Given the description of an element on the screen output the (x, y) to click on. 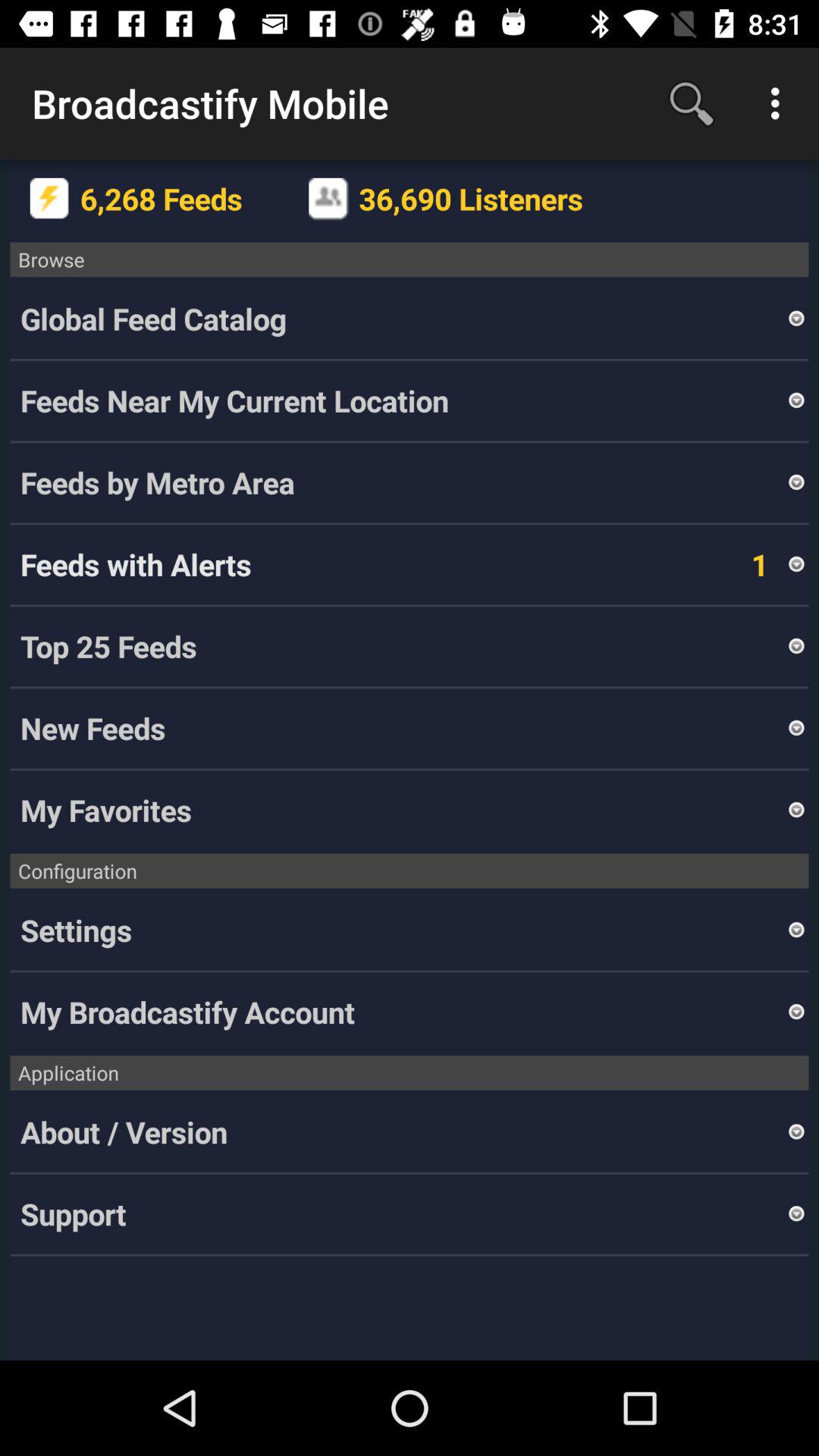
turn off icon below the feeds by metro (738, 564)
